Given the description of an element on the screen output the (x, y) to click on. 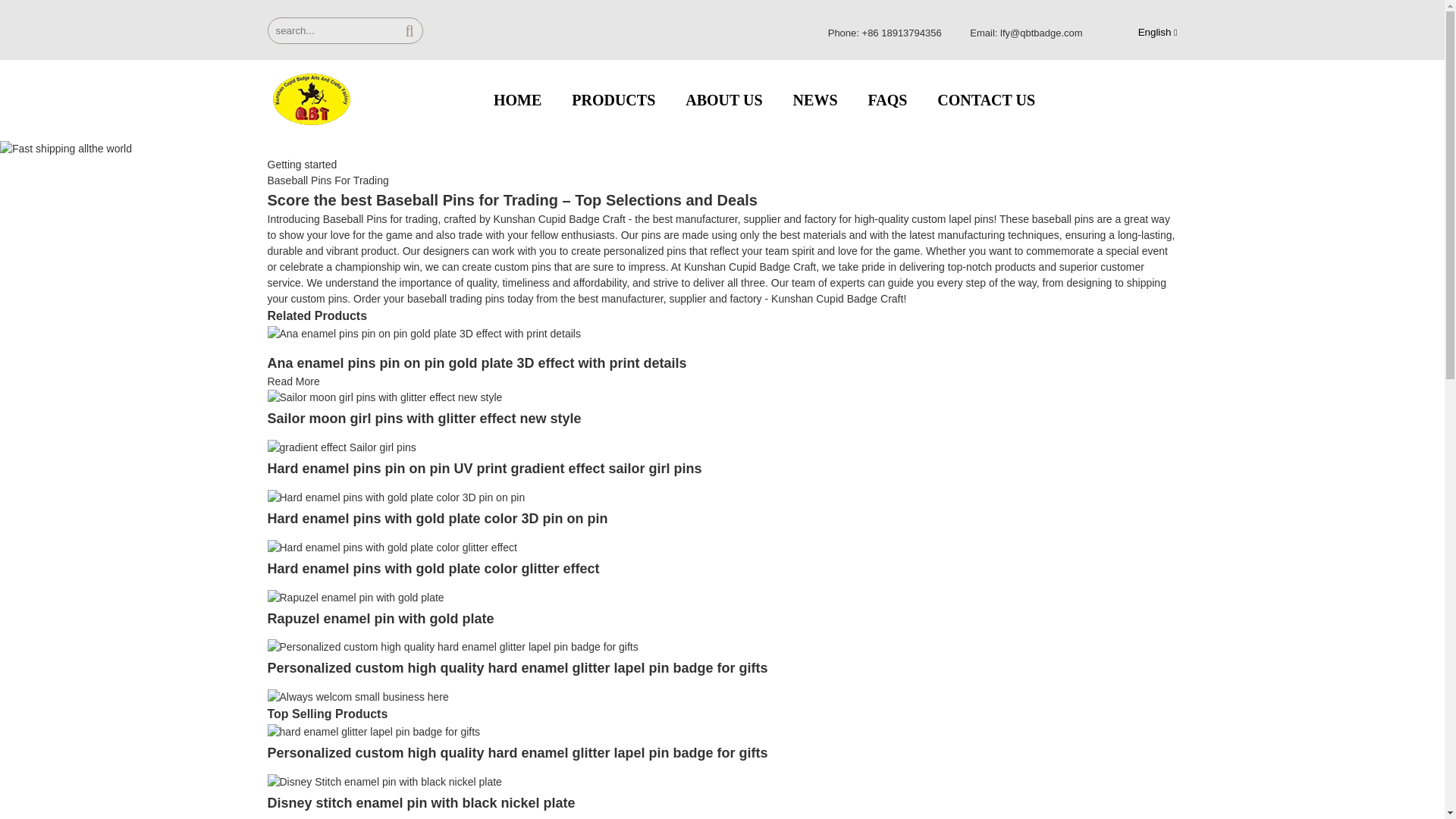
Hard enamel pins with gold plate color 3D pin on pin (436, 518)
Read More (292, 381)
English (1145, 31)
HOME (517, 99)
Hard enamel pins with gold plate color 3D pin on pin (395, 496)
CONTACT US (986, 99)
Hard enamel pins with gold plate color 3D pin on pin (436, 518)
Getting started (301, 164)
